Given the description of an element on the screen output the (x, y) to click on. 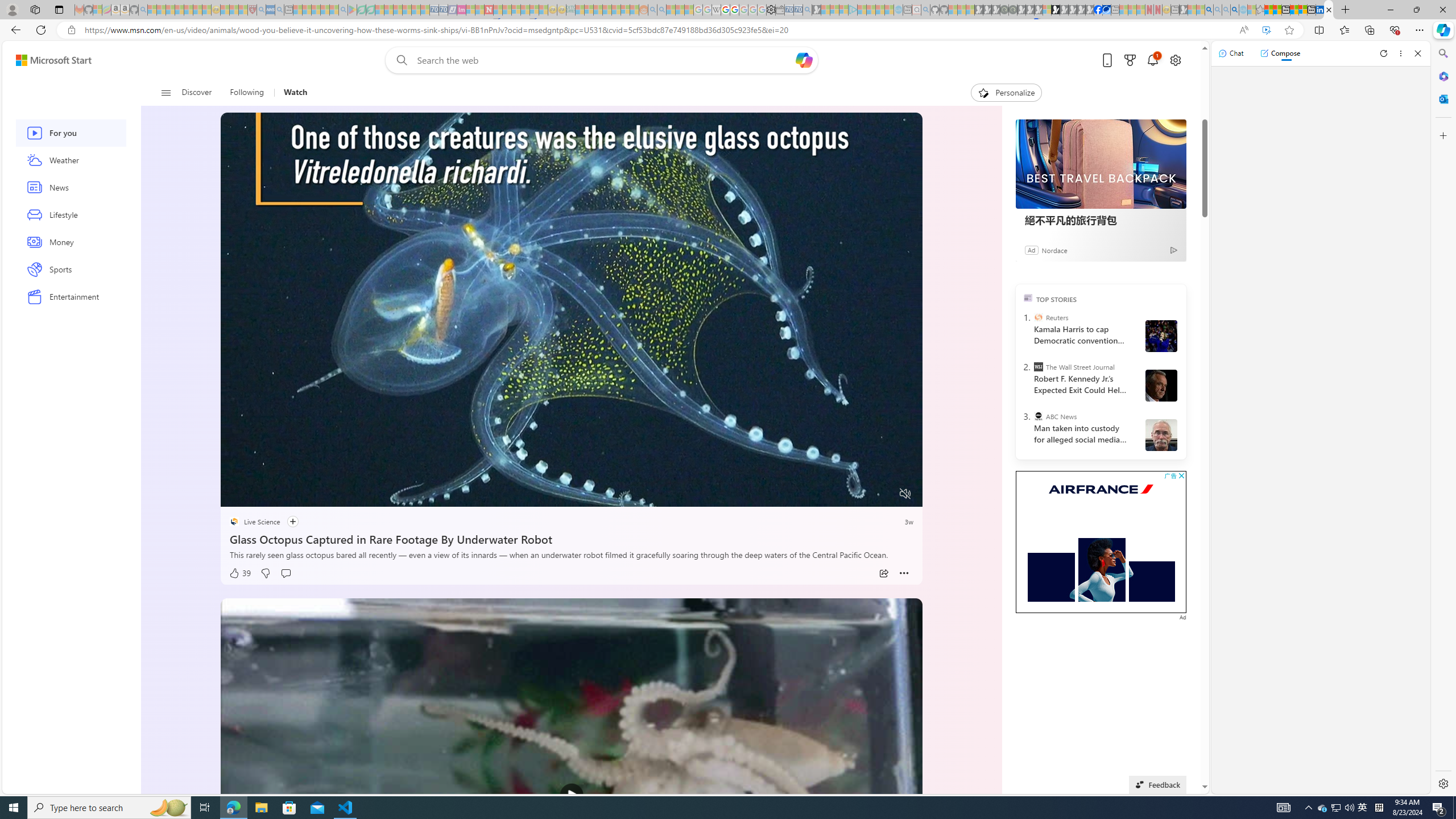
LinkedIn (1319, 9)
Fullscreen (883, 493)
 Harris and Walz campaign in Wisconsin (1161, 336)
14 Common Myths Debunked By Scientific Facts - Sleeping (506, 9)
Reuters (1037, 316)
Close Customize pane (1442, 135)
